Given the description of an element on the screen output the (x, y) to click on. 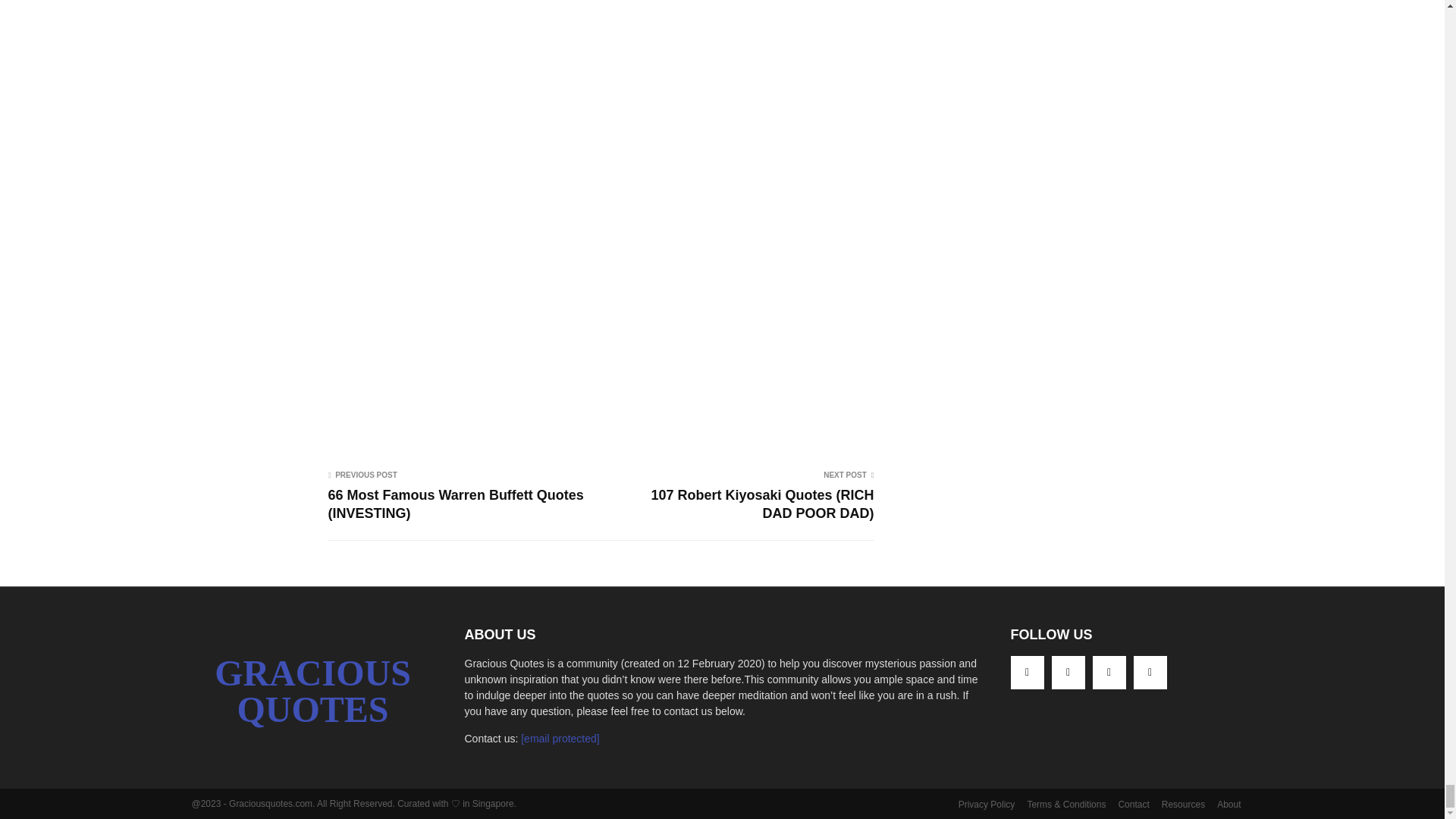
Pinterest (1067, 672)
Rss (1149, 672)
Facebook (1026, 672)
Youtube (1108, 672)
